Given the description of an element on the screen output the (x, y) to click on. 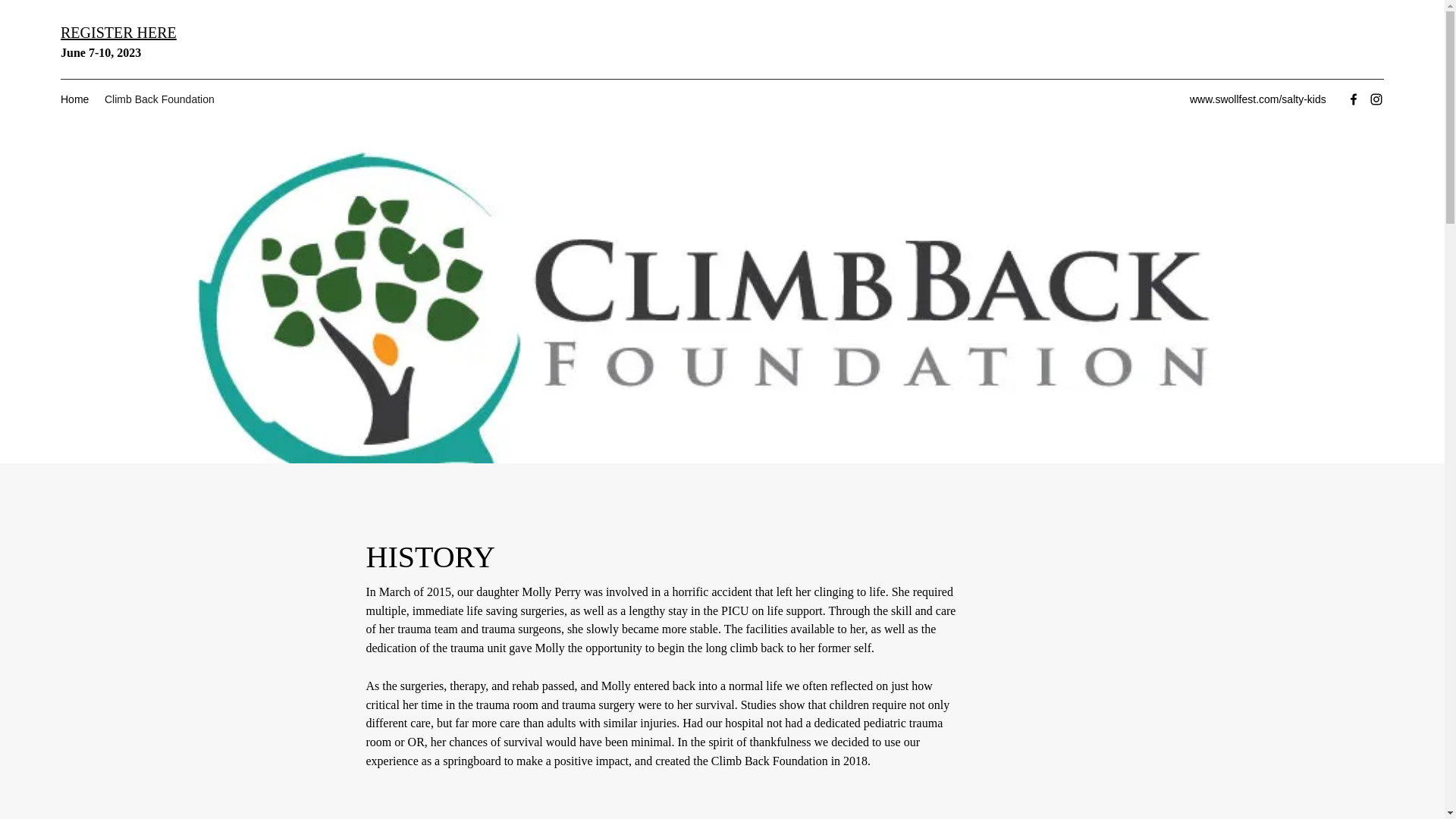
Climb Back Foundation (161, 98)
REGISTER HERE (118, 32)
Home (74, 98)
www.swollfest.com (1233, 99)
